Given the description of an element on the screen output the (x, y) to click on. 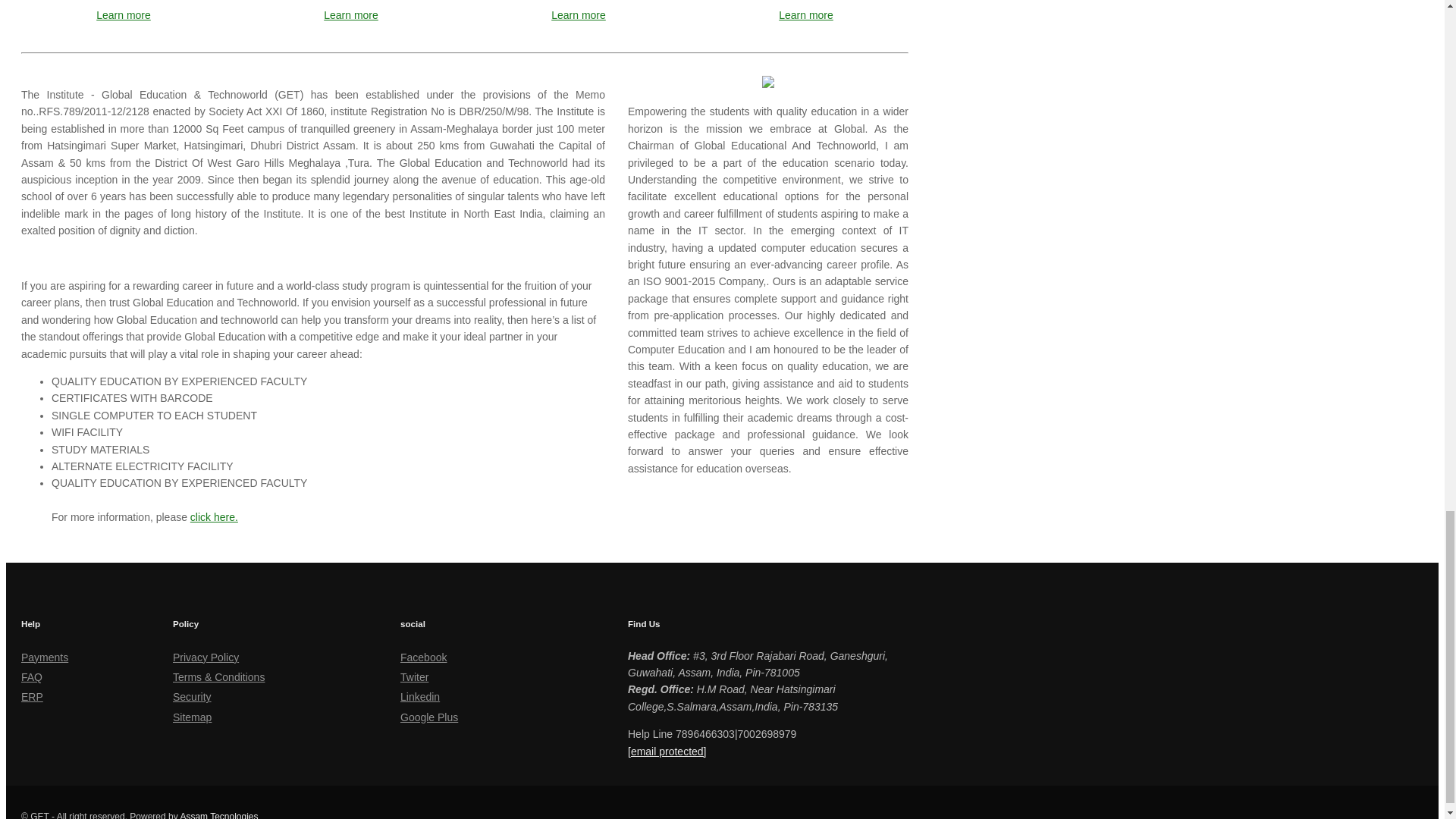
Learn more (578, 15)
Learn more (123, 15)
WHY CHOOSE US ? (70, 258)
Learn more (805, 15)
Learn more (350, 15)
click here. (214, 517)
FOUNDER'S DESK (673, 67)
Payments (44, 657)
